Given the description of an element on the screen output the (x, y) to click on. 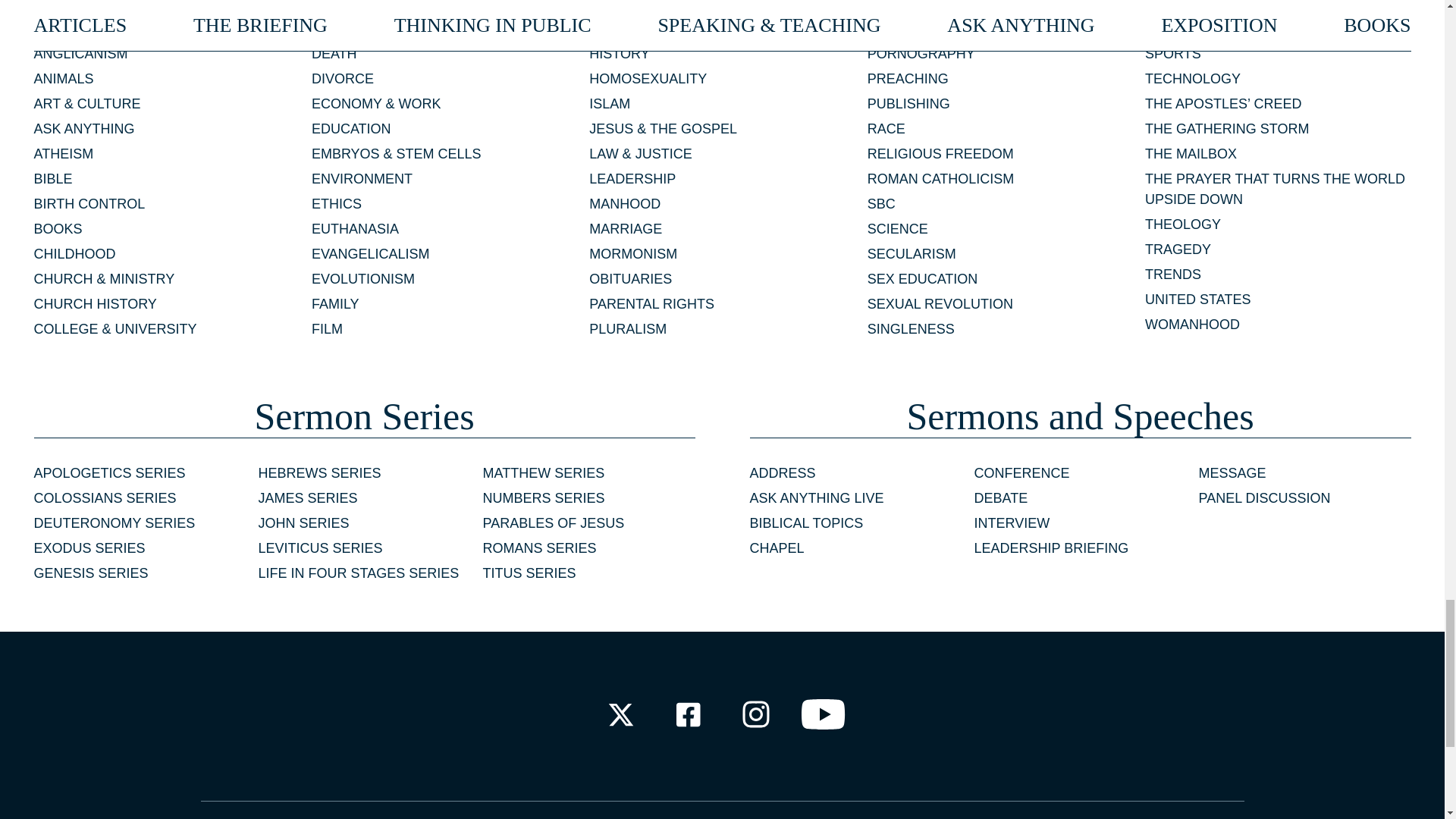
Check out our X Profile (620, 714)
Check out our Youtube Channel (822, 714)
Check out our Facebook Profile (687, 714)
Check out our Instagram Profile (755, 714)
